Given the description of an element on the screen output the (x, y) to click on. 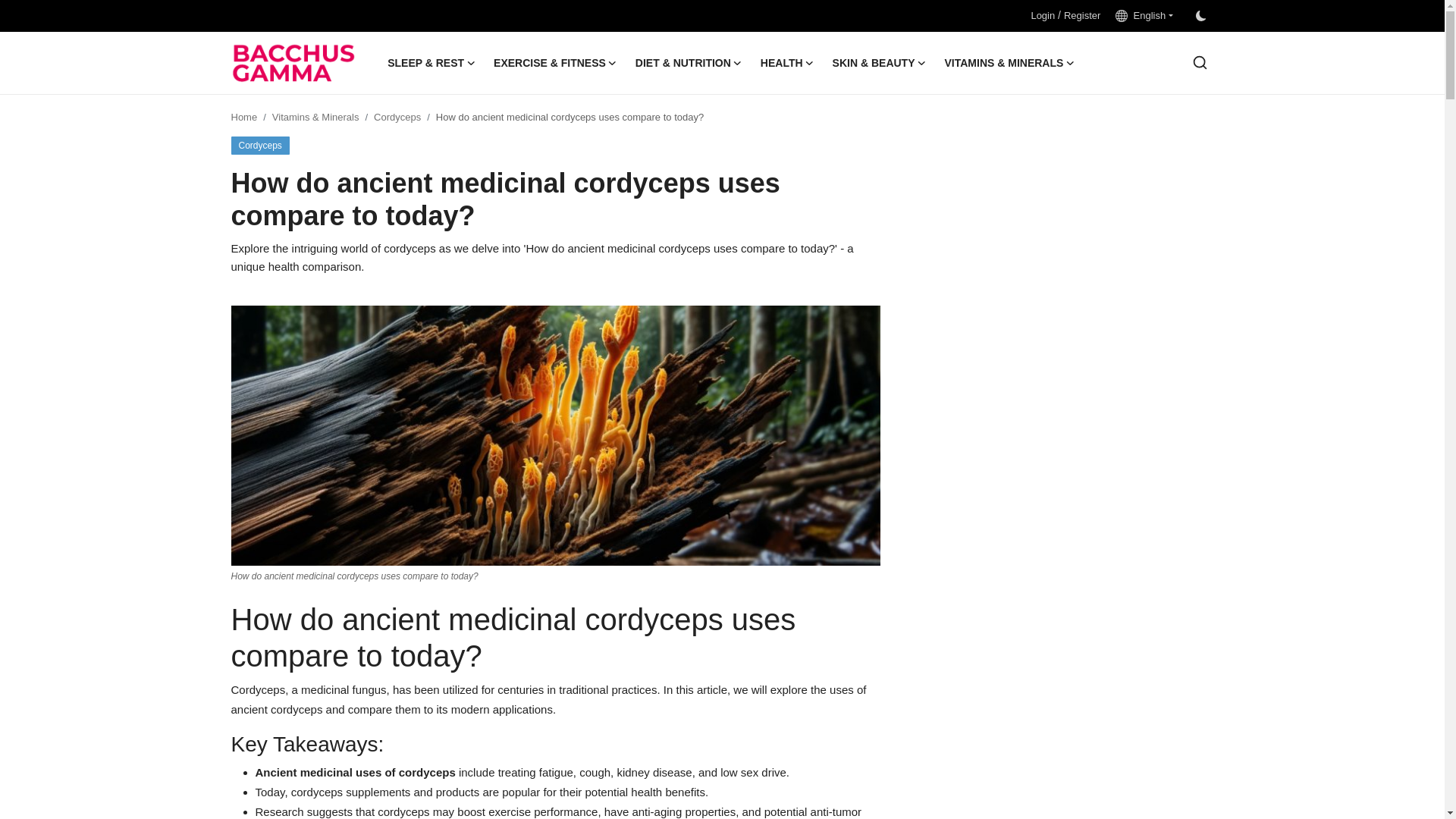
Register (1082, 15)
HEALTH (787, 62)
Login (1042, 15)
  English (1143, 15)
dark (1200, 15)
